Given the description of an element on the screen output the (x, y) to click on. 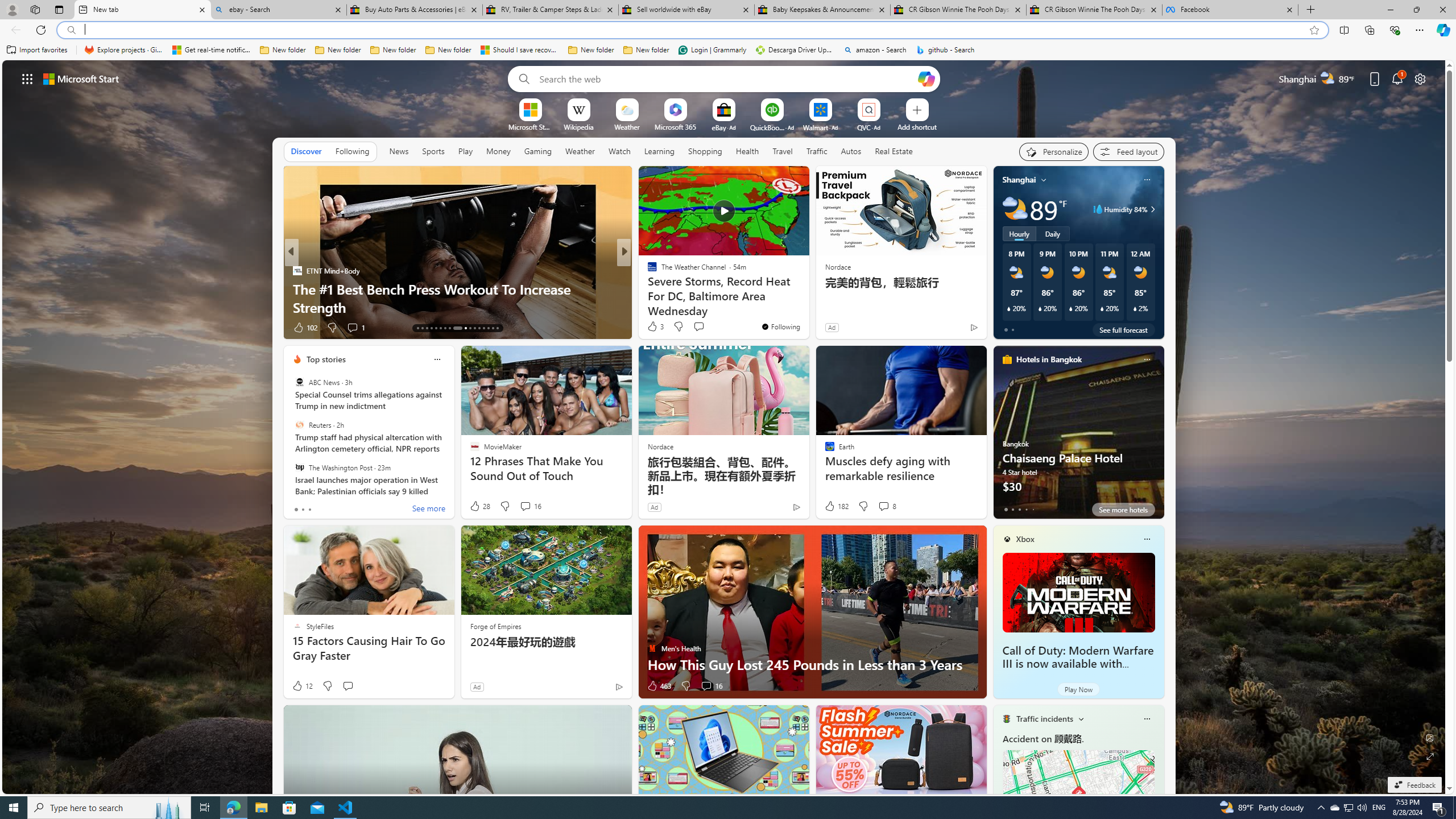
Forge of Empires (495, 625)
Class: weather-arrow-glyph (1152, 208)
Search icon (70, 29)
AutomationID: tab-23 (470, 328)
Favorites bar (728, 49)
ETNT Mind+Body (296, 270)
Page settings (1420, 78)
AutomationID: tab-20 (449, 328)
